Given the description of an element on the screen output the (x, y) to click on. 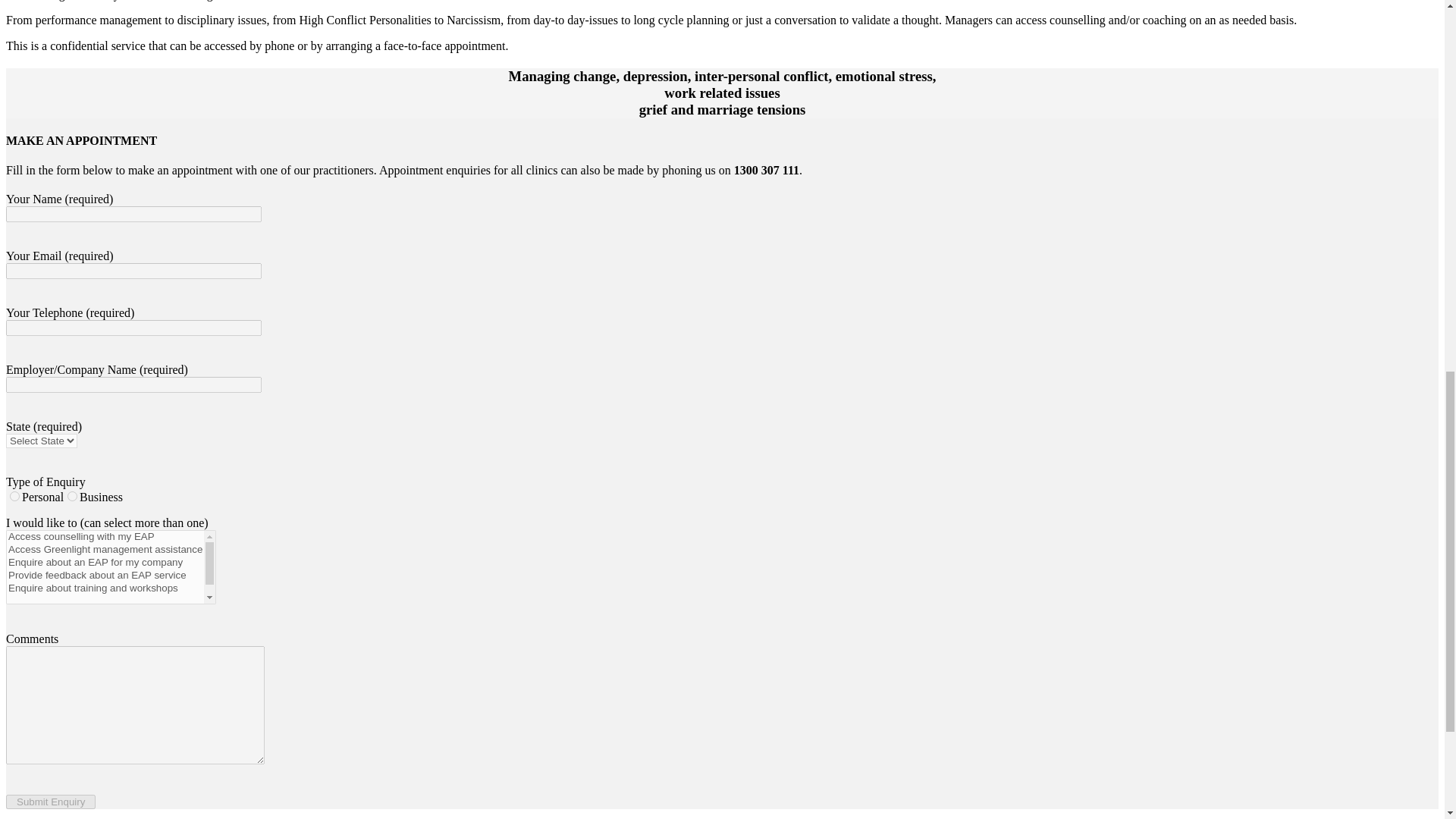
Business (71, 496)
Personal (15, 496)
Submit Enquiry (50, 801)
Submit Enquiry (50, 801)
